Given the description of an element on the screen output the (x, y) to click on. 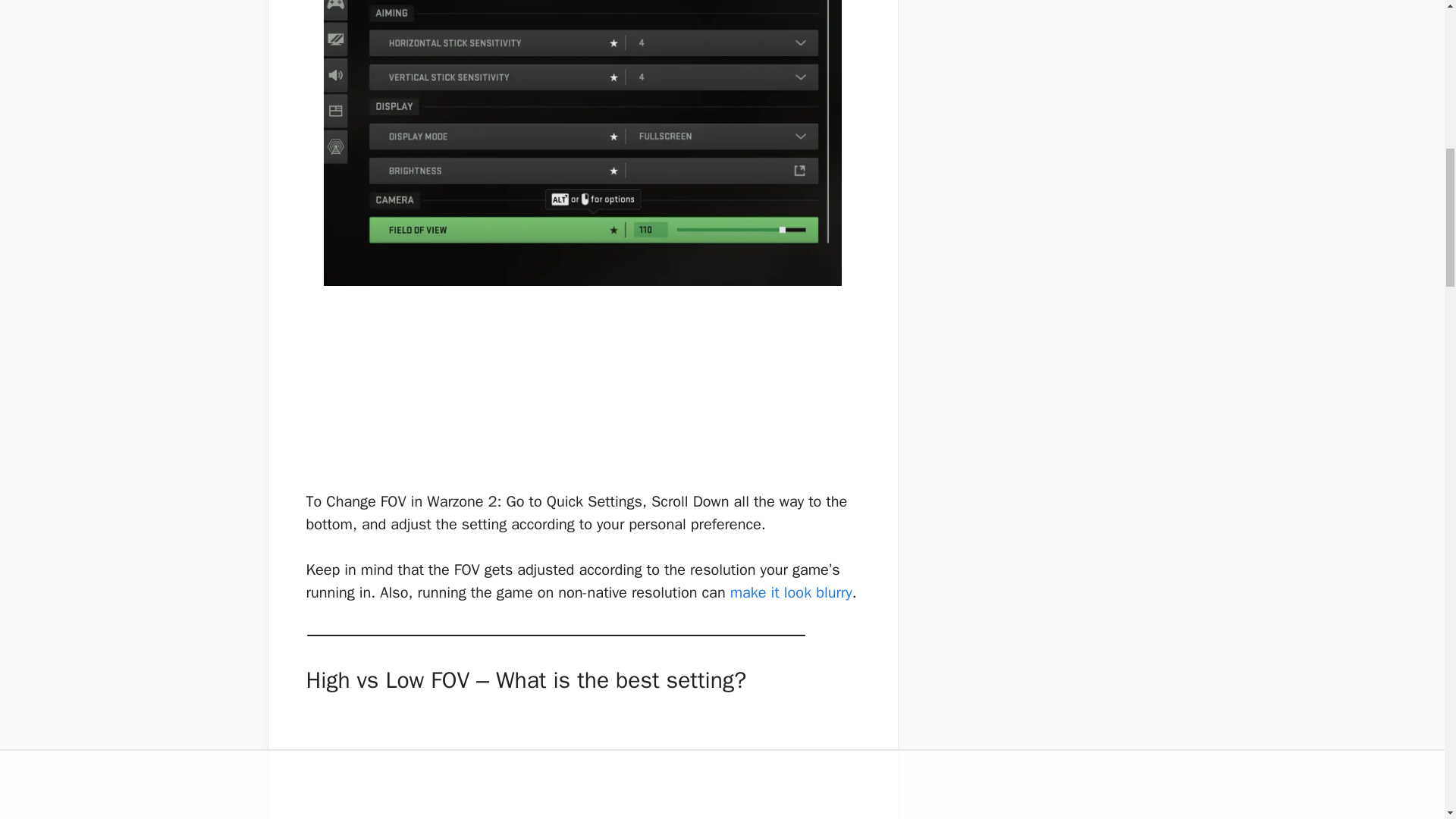
Scroll back to top (1406, 720)
make it look blurry (790, 592)
